Given the description of an element on the screen output the (x, y) to click on. 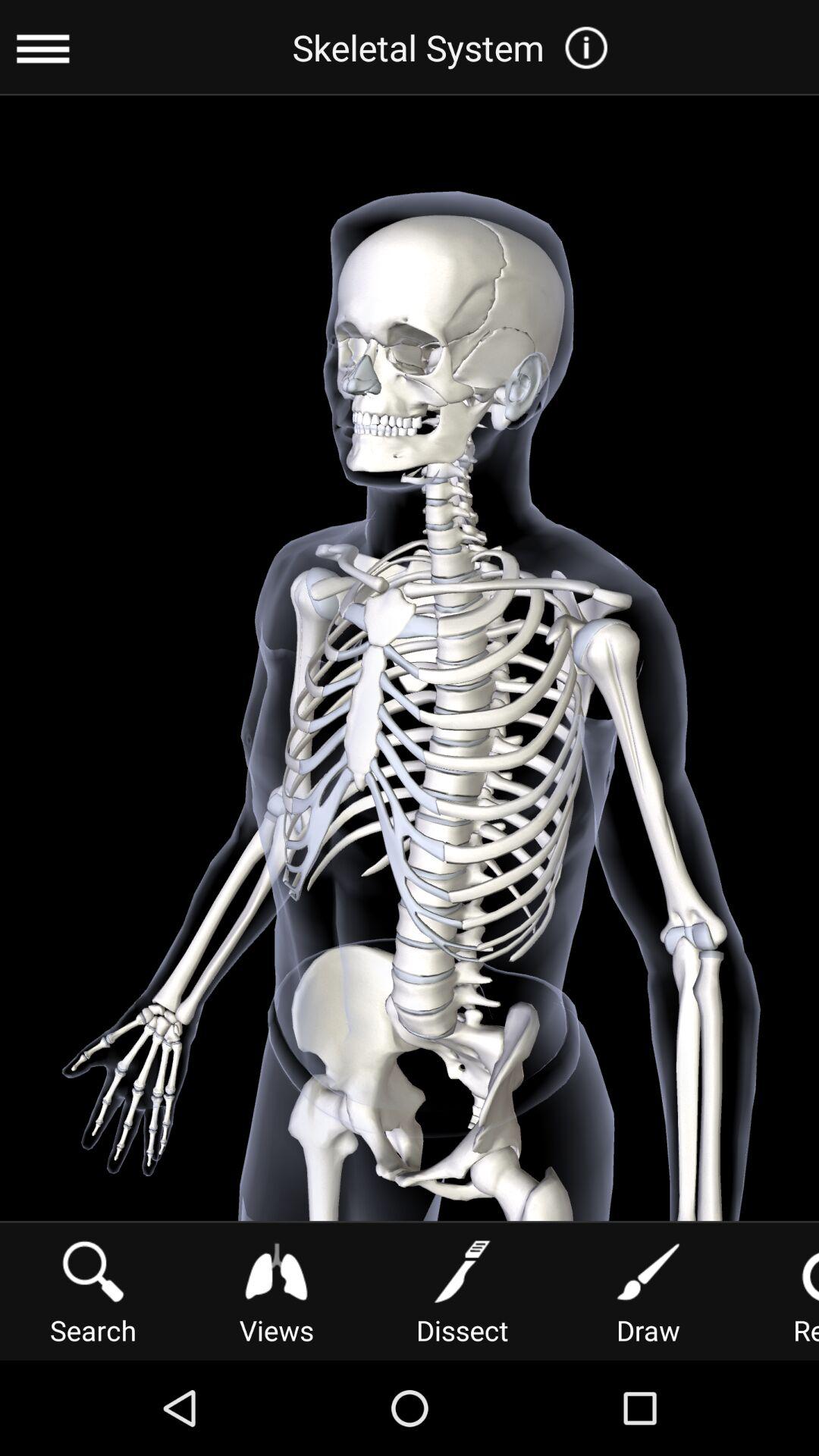
turn on dissect (462, 1290)
